Given the description of an element on the screen output the (x, y) to click on. 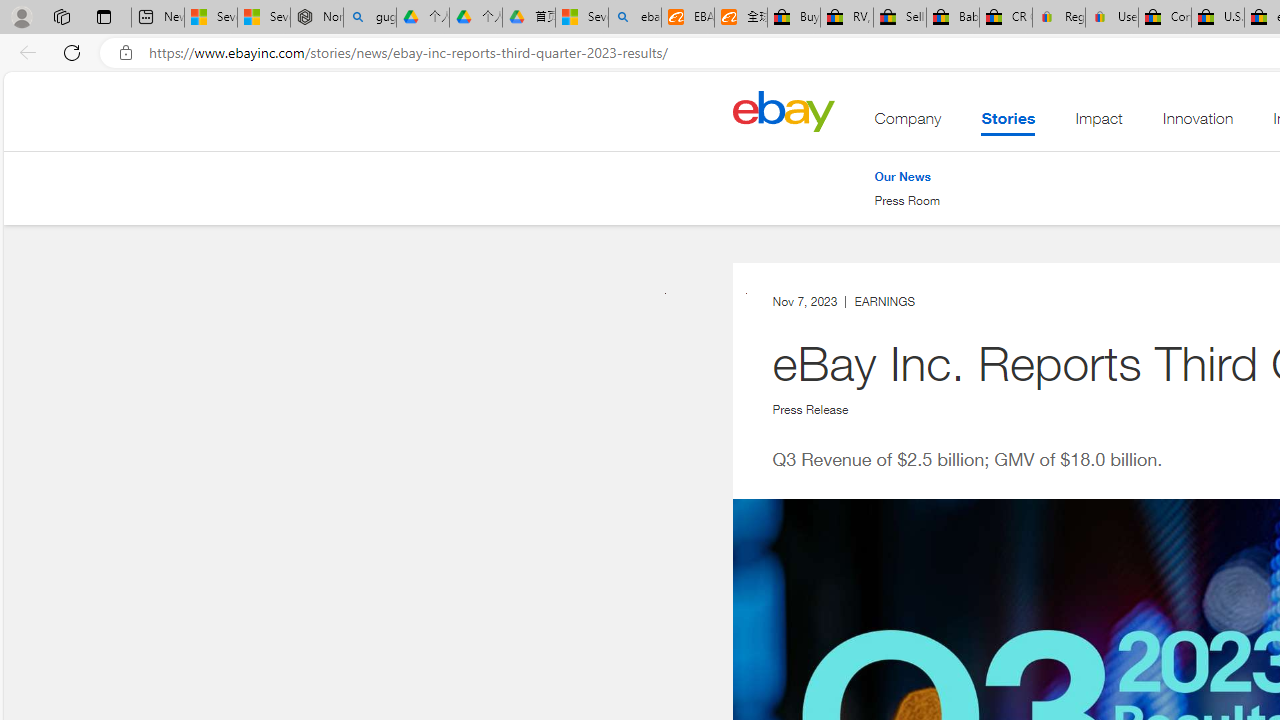
Press Room (907, 200)
Stories . This is the current section. (1007, 123)
